Given the description of an element on the screen output the (x, y) to click on. 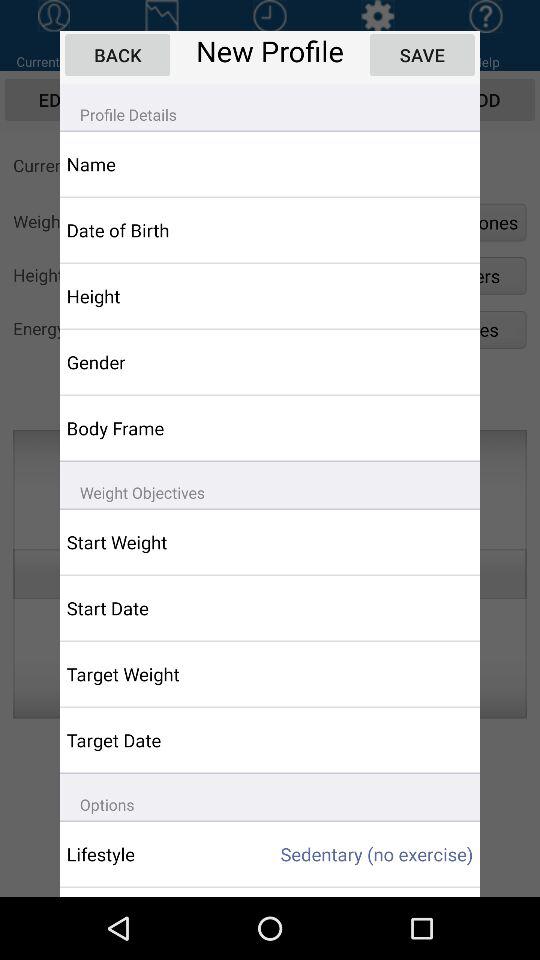
turn off app above the height item (156, 229)
